Given the description of an element on the screen output the (x, y) to click on. 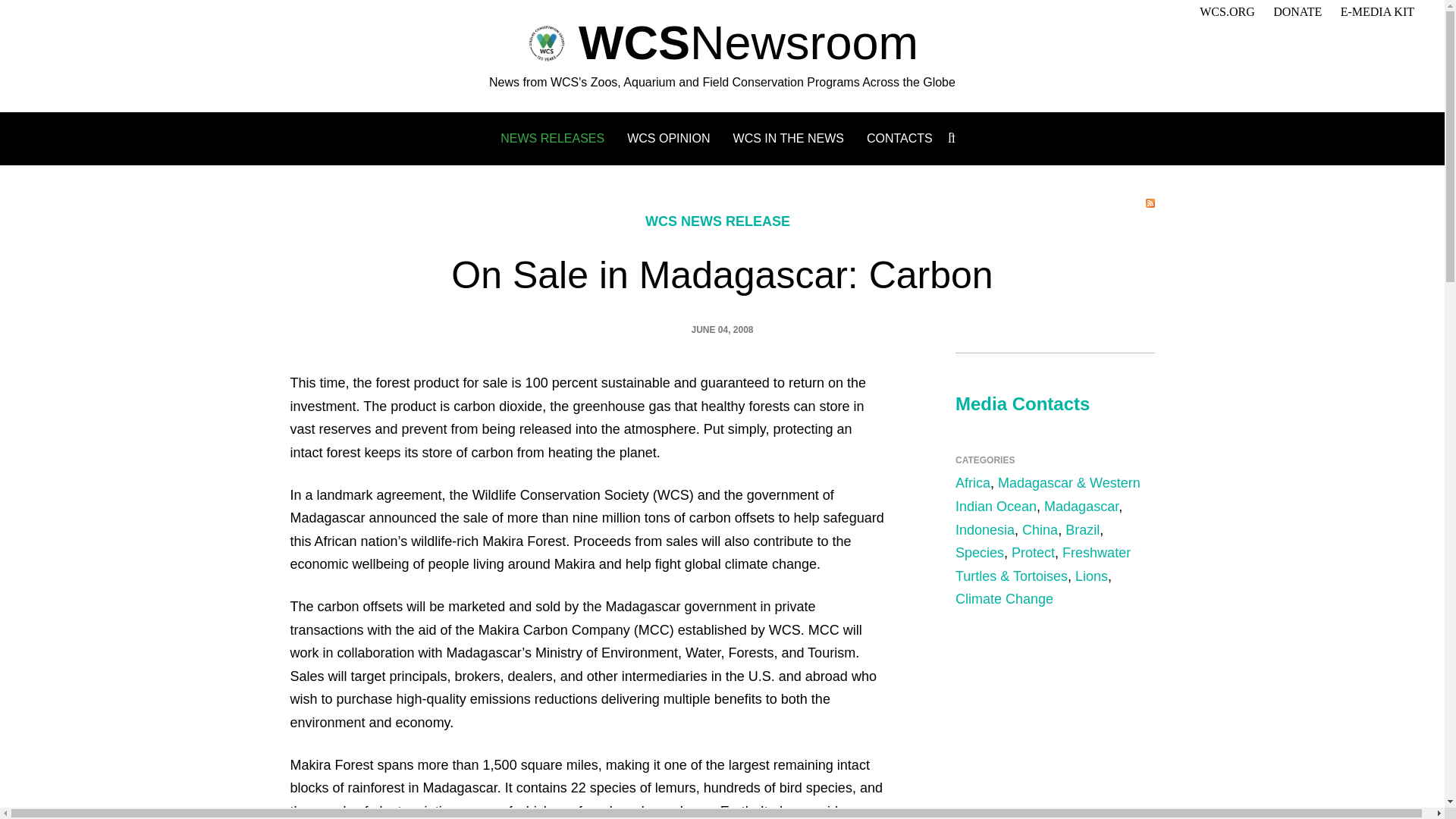
E-MEDIA KIT (1376, 11)
Protect (1032, 552)
WCS.ORG (1226, 11)
China (1040, 529)
Indonesia (984, 529)
Lions (1091, 575)
Africa (972, 482)
Madagascar (1080, 506)
DONATE (1297, 11)
Brazil (1082, 529)
Climate Change (1003, 598)
WCS OPINION (668, 138)
CONTACTS (899, 138)
